Given the description of an element on the screen output the (x, y) to click on. 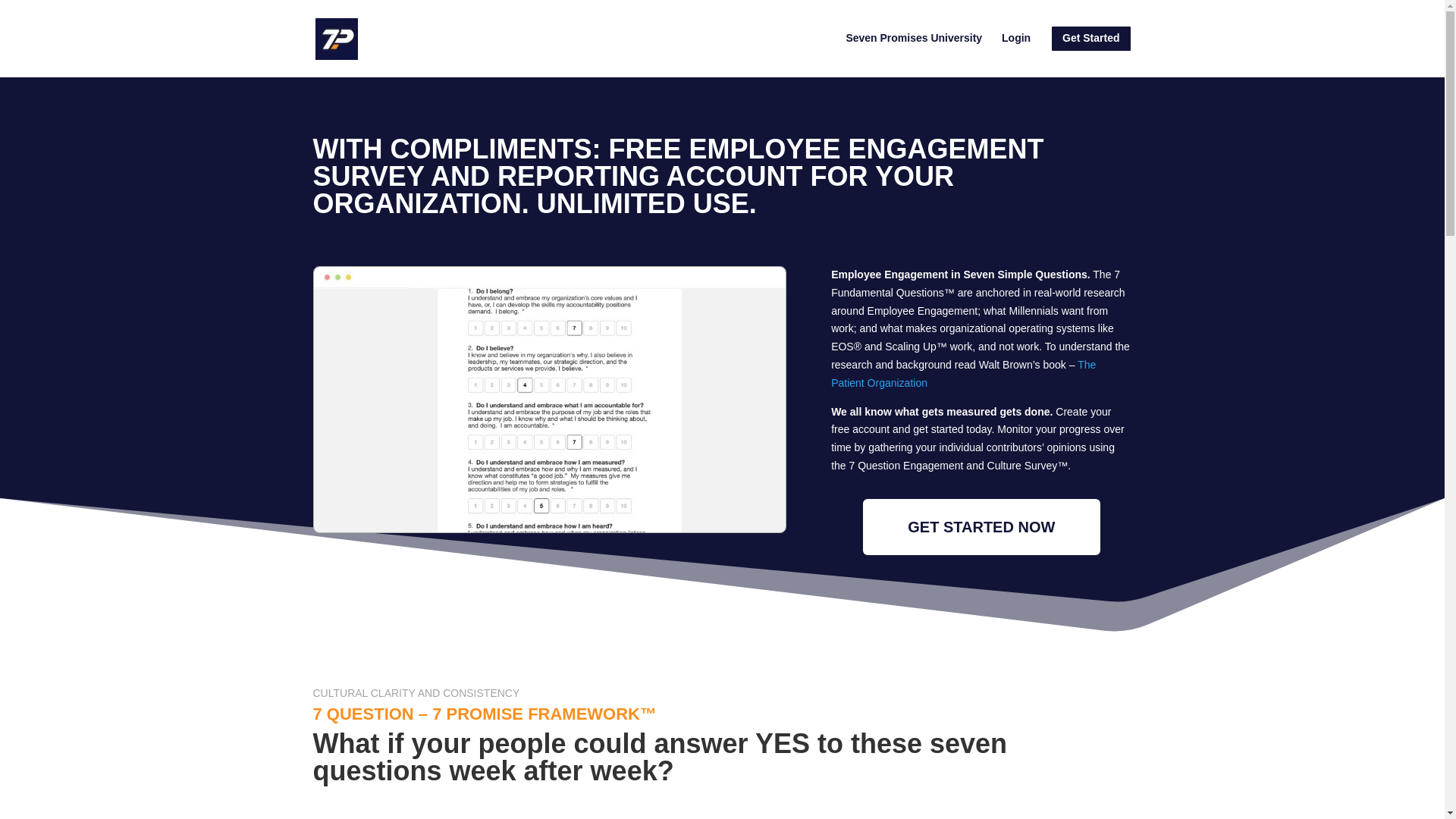
GET STARTED NOW (981, 526)
Seven Promises Survey Screens-survey (550, 399)
Seven Promises University (913, 49)
Get Started (1090, 50)
The Patient Organization (963, 373)
